Given the description of an element on the screen output the (x, y) to click on. 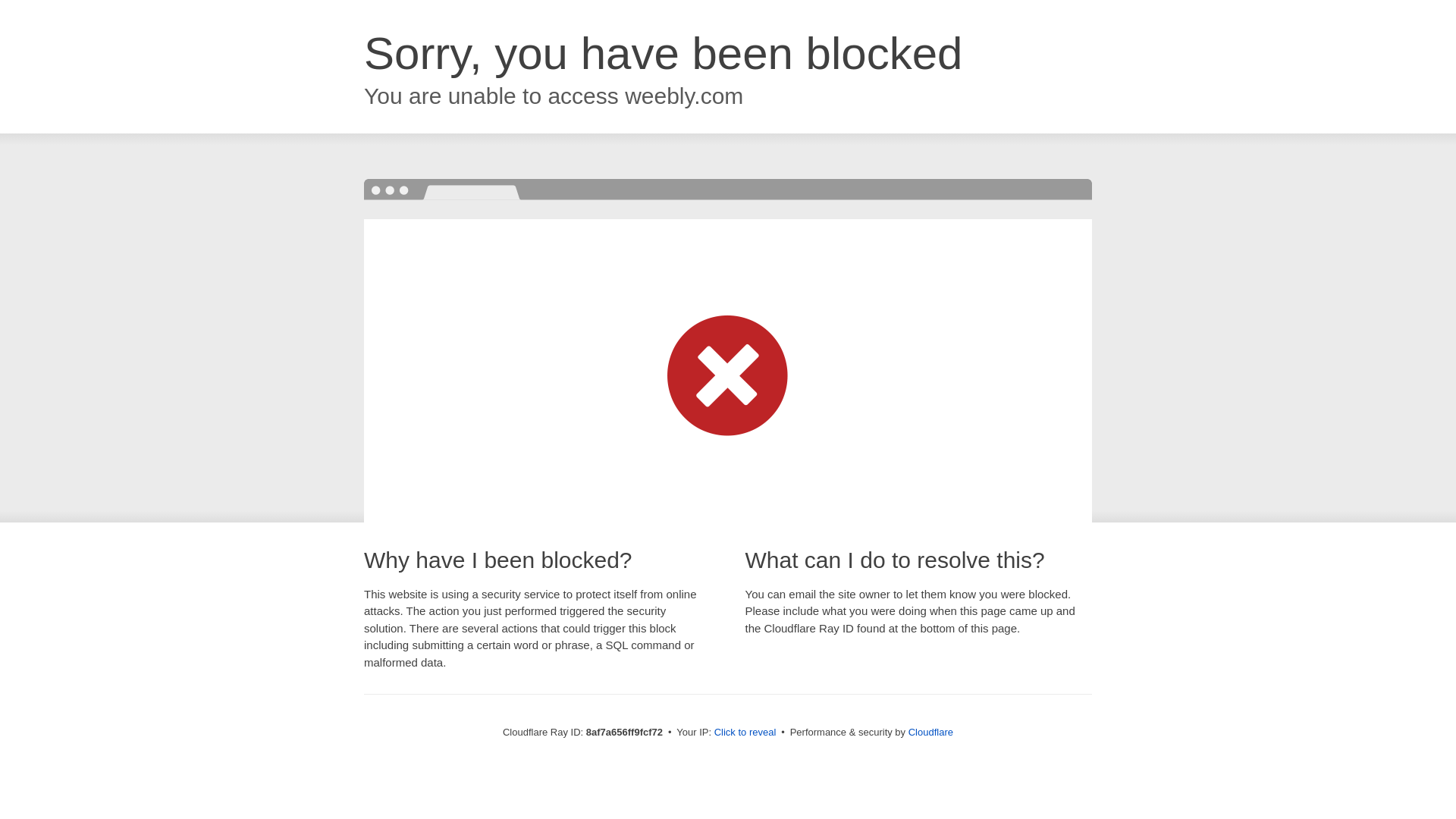
Cloudflare (930, 731)
Click to reveal (745, 732)
